Given the description of an element on the screen output the (x, y) to click on. 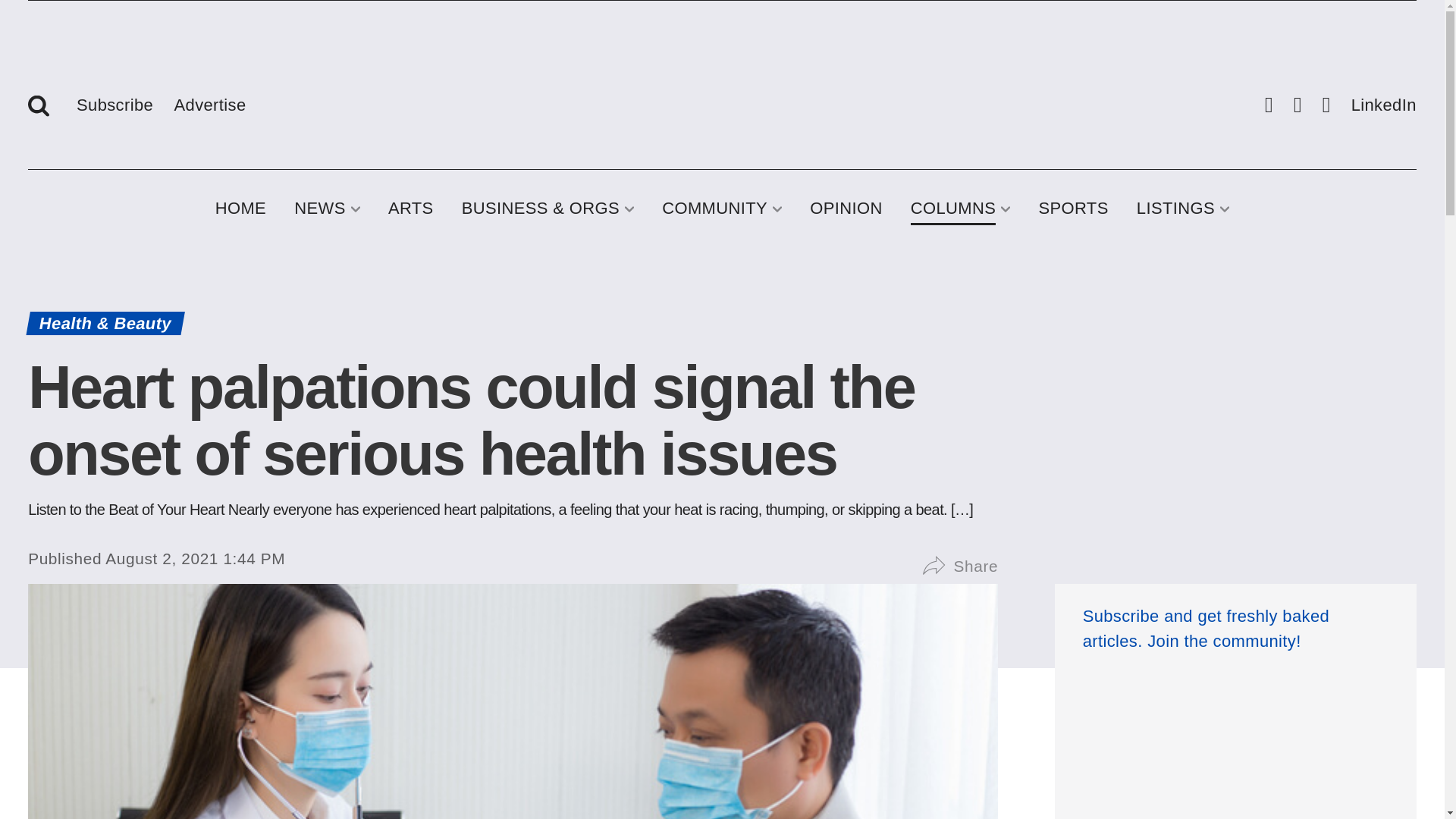
Search for something you seek (41, 106)
Facebook (1268, 106)
Subscribe (114, 101)
Advertise (210, 101)
Search (41, 106)
